Given the description of an element on the screen output the (x, y) to click on. 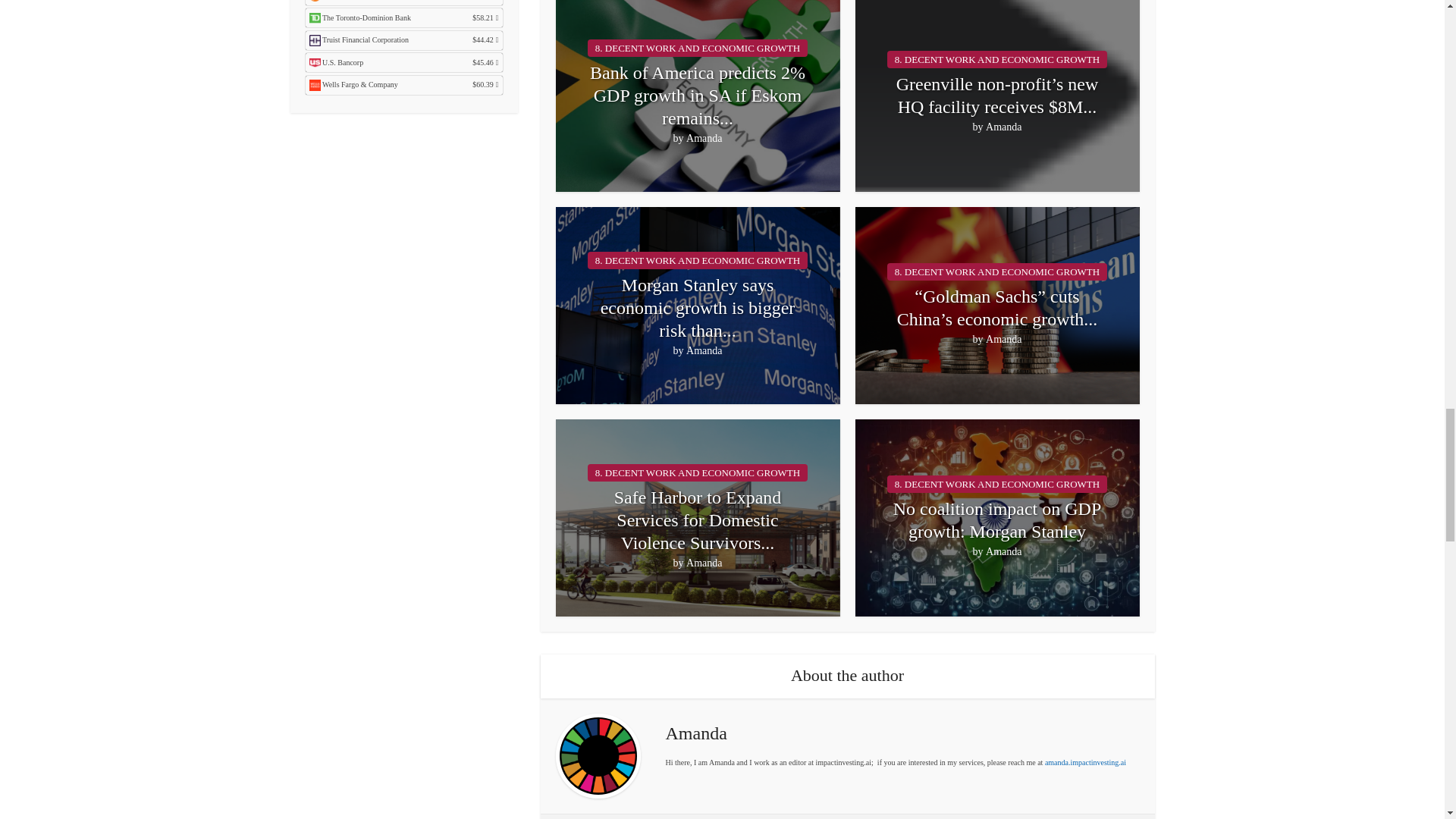
No coalition impact on GDP growth: Morgan Stanley (998, 519)
